Given the description of an element on the screen output the (x, y) to click on. 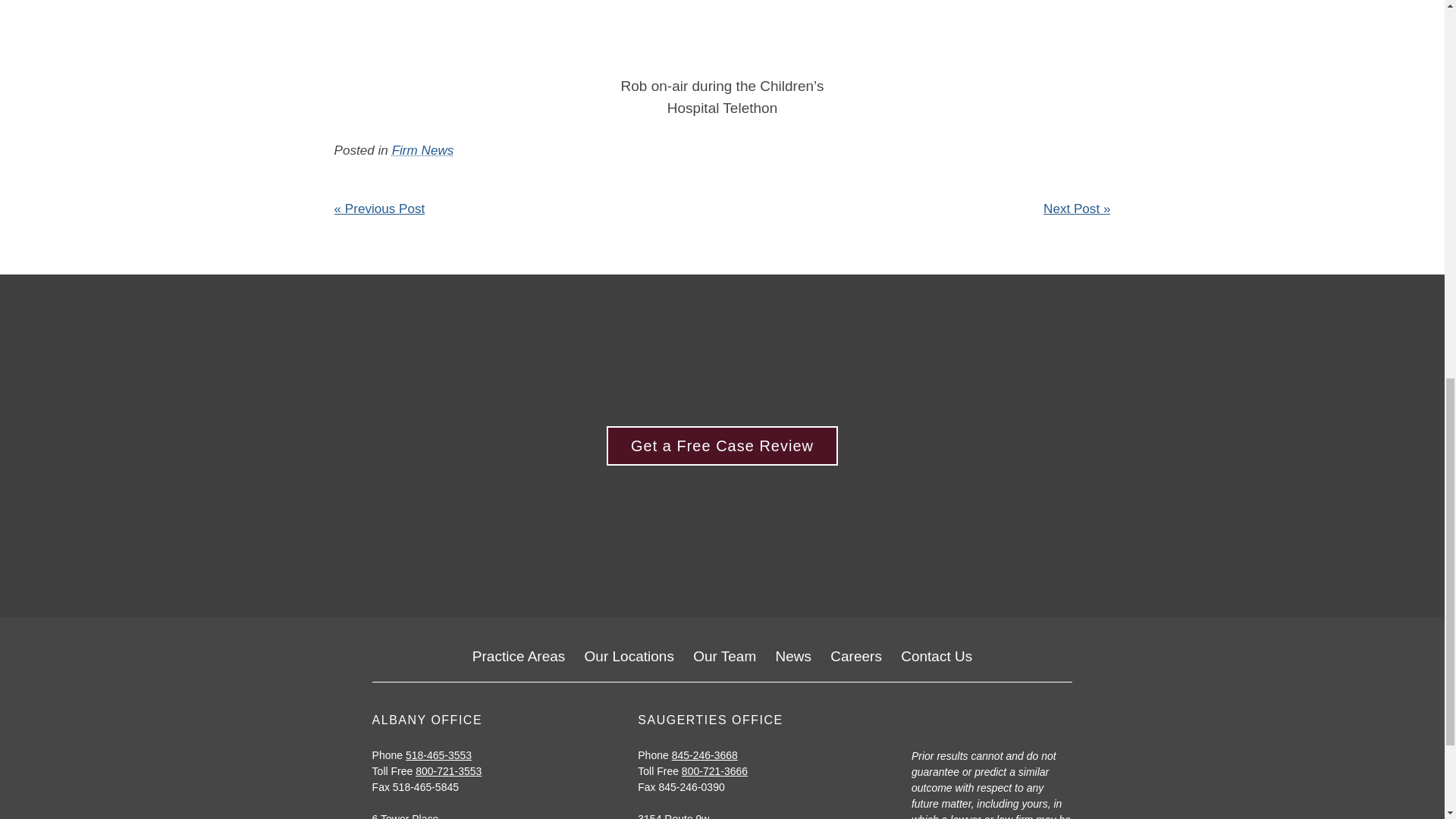
Our Locations (629, 657)
Get a Free Case Review (722, 445)
Our Team (724, 657)
Practice Areas (518, 657)
Opens in a new window (405, 816)
Careers (855, 657)
Firm News (422, 150)
Opens in a new window (673, 816)
News (794, 657)
